Given the description of an element on the screen output the (x, y) to click on. 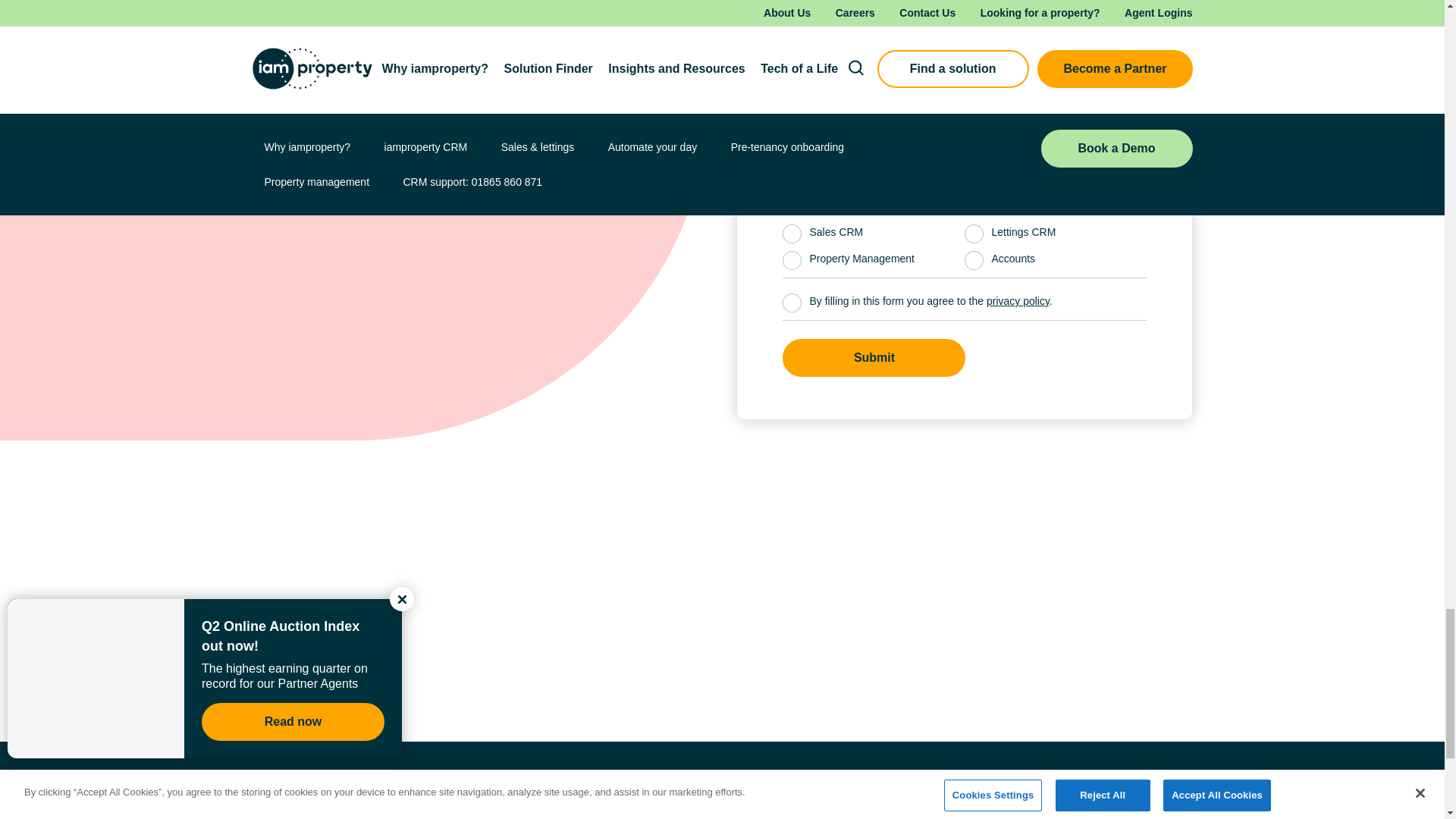
Submit (874, 357)
Property Management (792, 260)
Sales CRM (792, 233)
Lettings CRM (973, 233)
Accounts (973, 260)
